Given the description of an element on the screen output the (x, y) to click on. 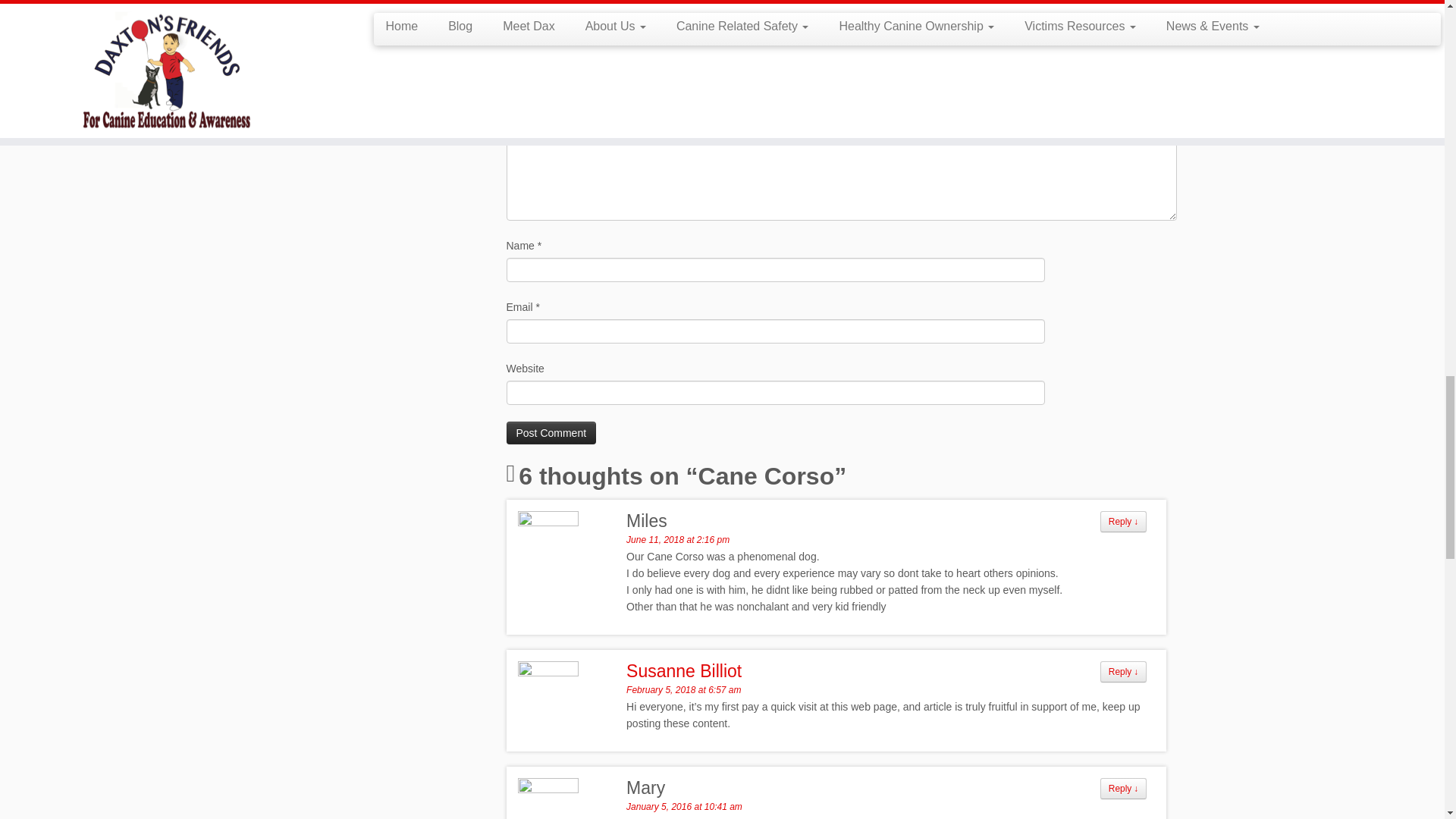
Post Comment (551, 432)
